Given the description of an element on the screen output the (x, y) to click on. 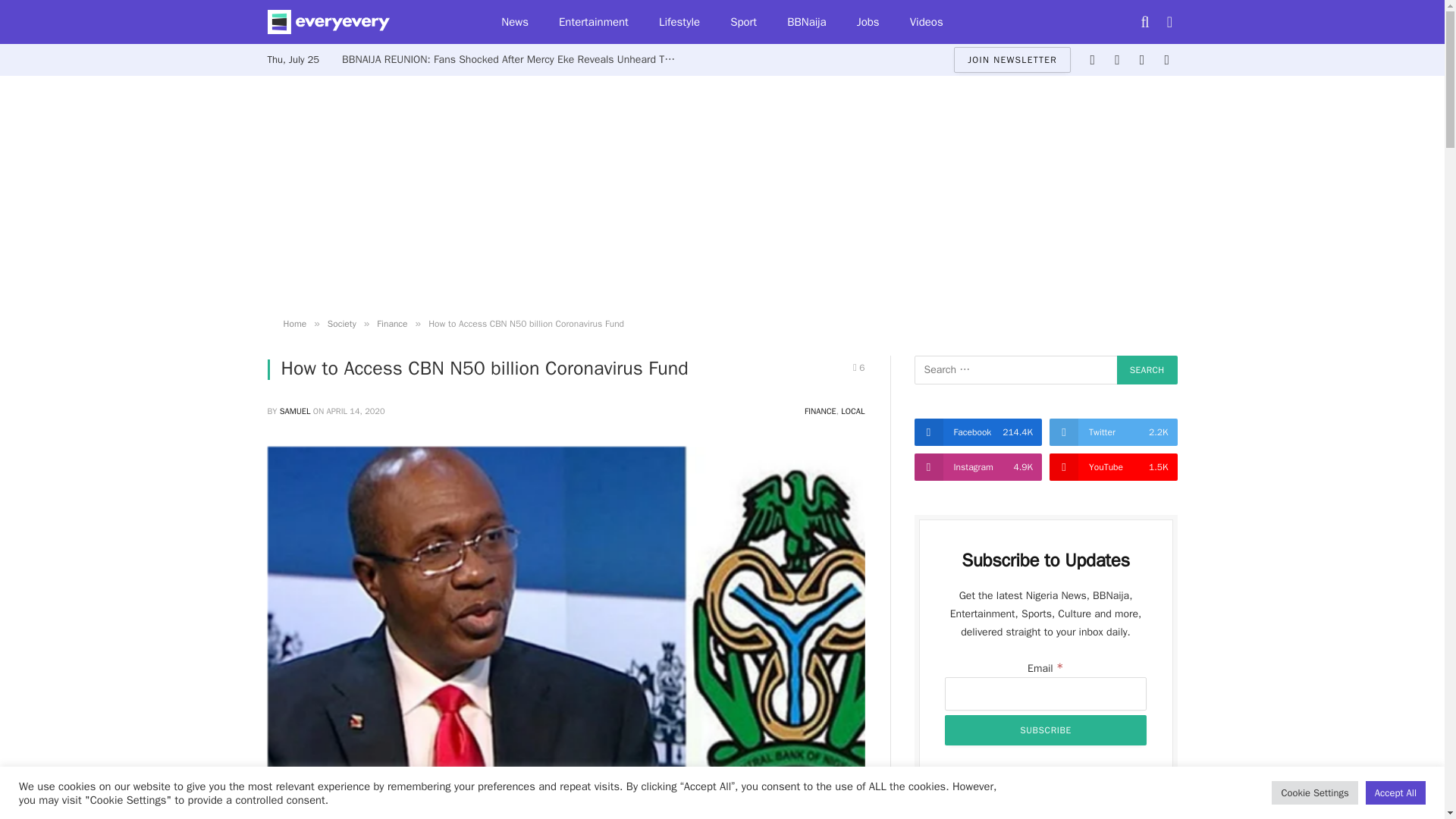
News (514, 22)
EveryEvery (327, 21)
entertainment (593, 22)
Jobs (868, 22)
Search (1146, 369)
2020-04-14 (355, 410)
Posts by samuel (295, 410)
lifestyle (678, 22)
news (514, 22)
Sport (742, 22)
Switch to Dark Design - easier on eyes. (1167, 21)
Search (1146, 369)
Entertainment (593, 22)
